Given the description of an element on the screen output the (x, y) to click on. 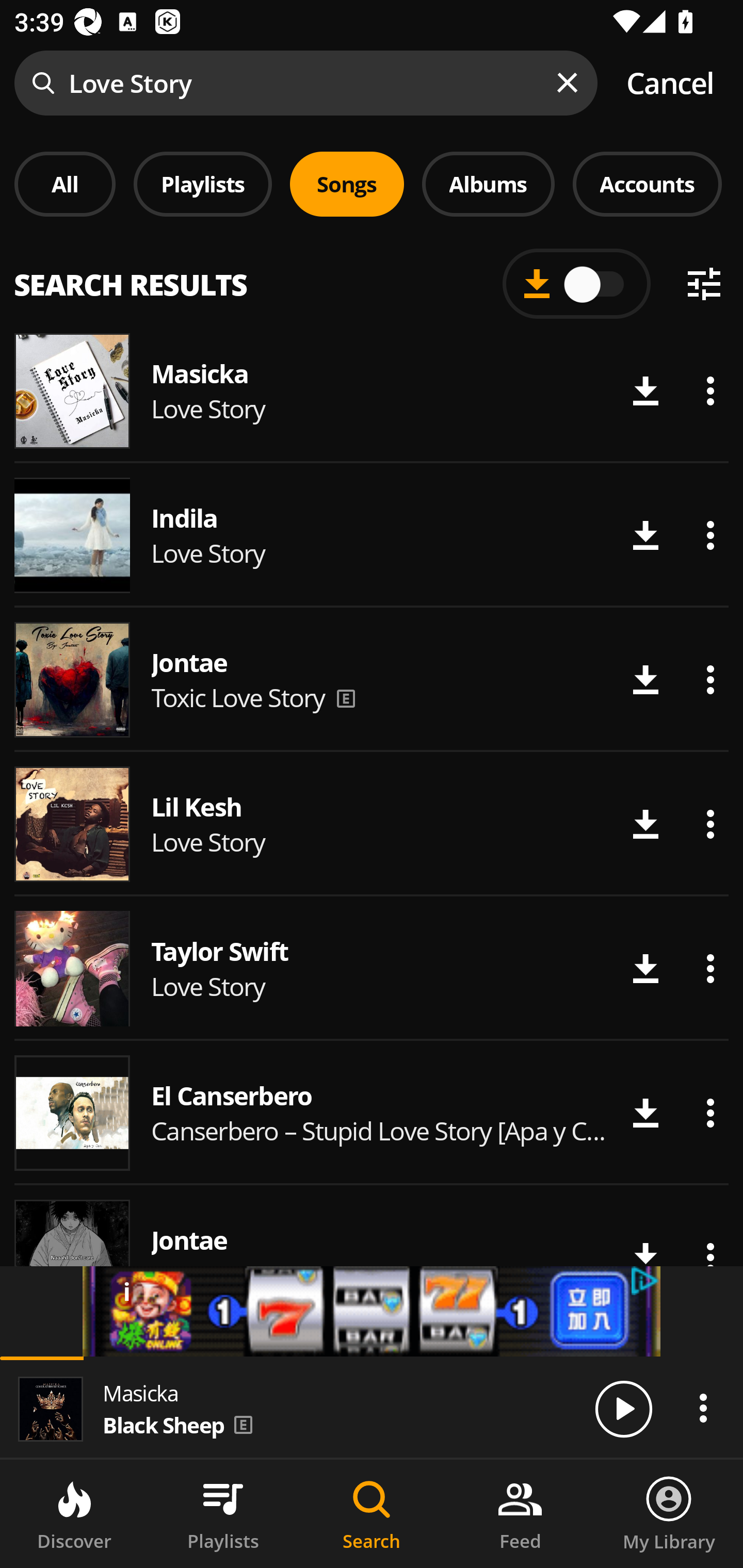
Love Story Cancel (371, 82)
Cancel (670, 82)
All (64, 184)
Playlists (202, 184)
Songs (346, 184)
Albums (488, 184)
Accounts (647, 184)
All Country Afrosounds Pop Caribbean (371, 275)
Pop (529, 288)
Song artwork Masicka Love Story Download Actions (371, 390)
Download (644, 391)
Actions (710, 391)
Song artwork Indila Love Story Download Actions (371, 535)
Download (644, 535)
Actions (710, 535)
Download (644, 679)
Actions (710, 679)
Song artwork Lil Kesh Love Story Download Actions (371, 824)
Download (644, 823)
Actions (710, 823)
Download (644, 968)
Actions (710, 968)
Download (644, 1113)
Actions (710, 1113)
Actions (703, 1407)
Play/Pause (623, 1408)
Discover (74, 1513)
Playlists (222, 1513)
Search (371, 1513)
Feed (519, 1513)
My Library (668, 1513)
